Given the description of an element on the screen output the (x, y) to click on. 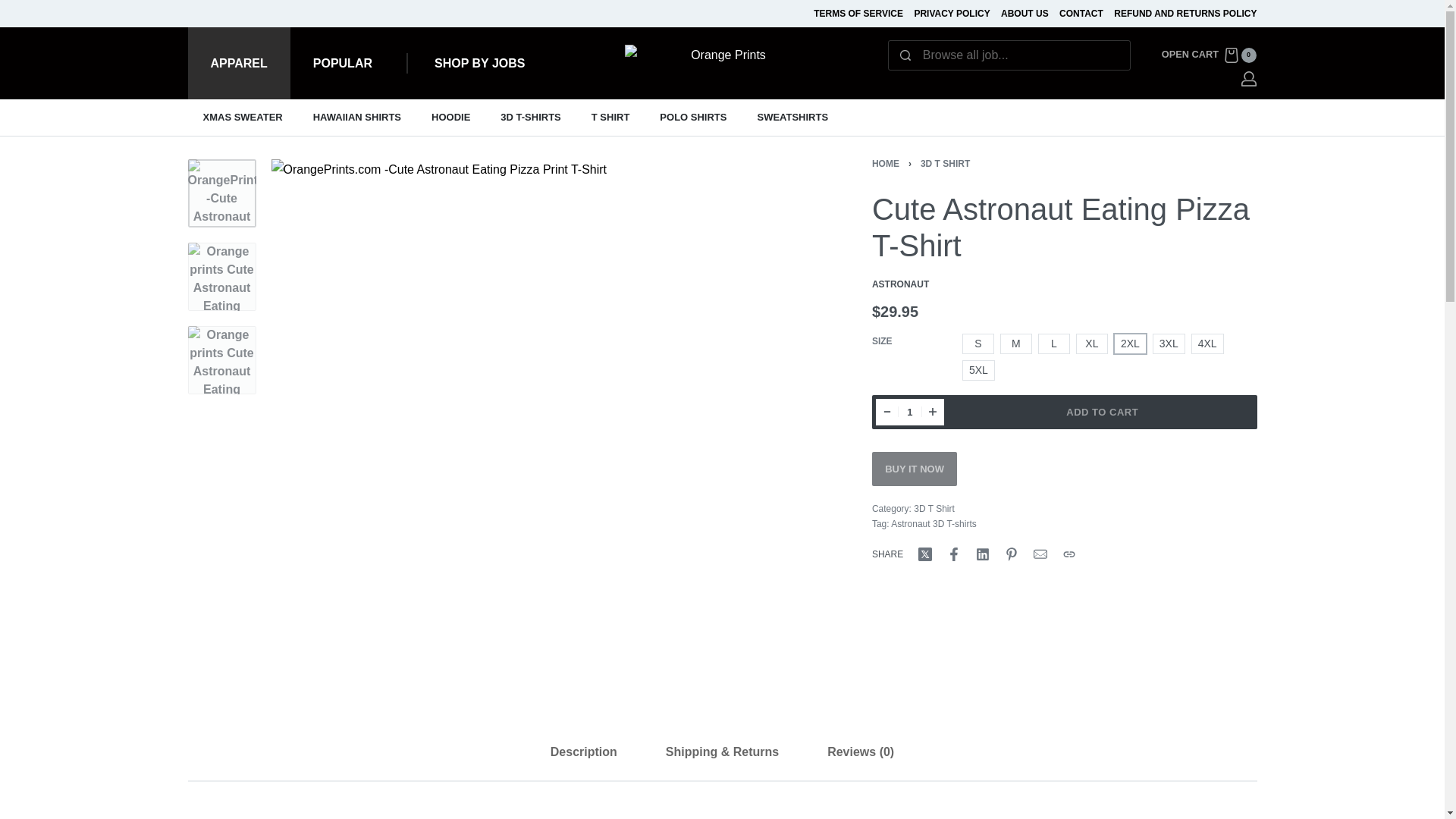
SWEATSHIRTS (792, 117)
APPAREL (238, 63)
3XL (1169, 343)
REFUND AND RETURNS POLICY (1184, 13)
SHOP BY JOBS (478, 63)
S (977, 343)
M (1015, 343)
2XL (1130, 343)
TERMS OF SERVICE (857, 13)
XMAS SWEATER (1208, 54)
PRIVACY POLICY (242, 117)
T SHIRT (952, 13)
1 (610, 117)
HOODIE (909, 411)
